Given the description of an element on the screen output the (x, y) to click on. 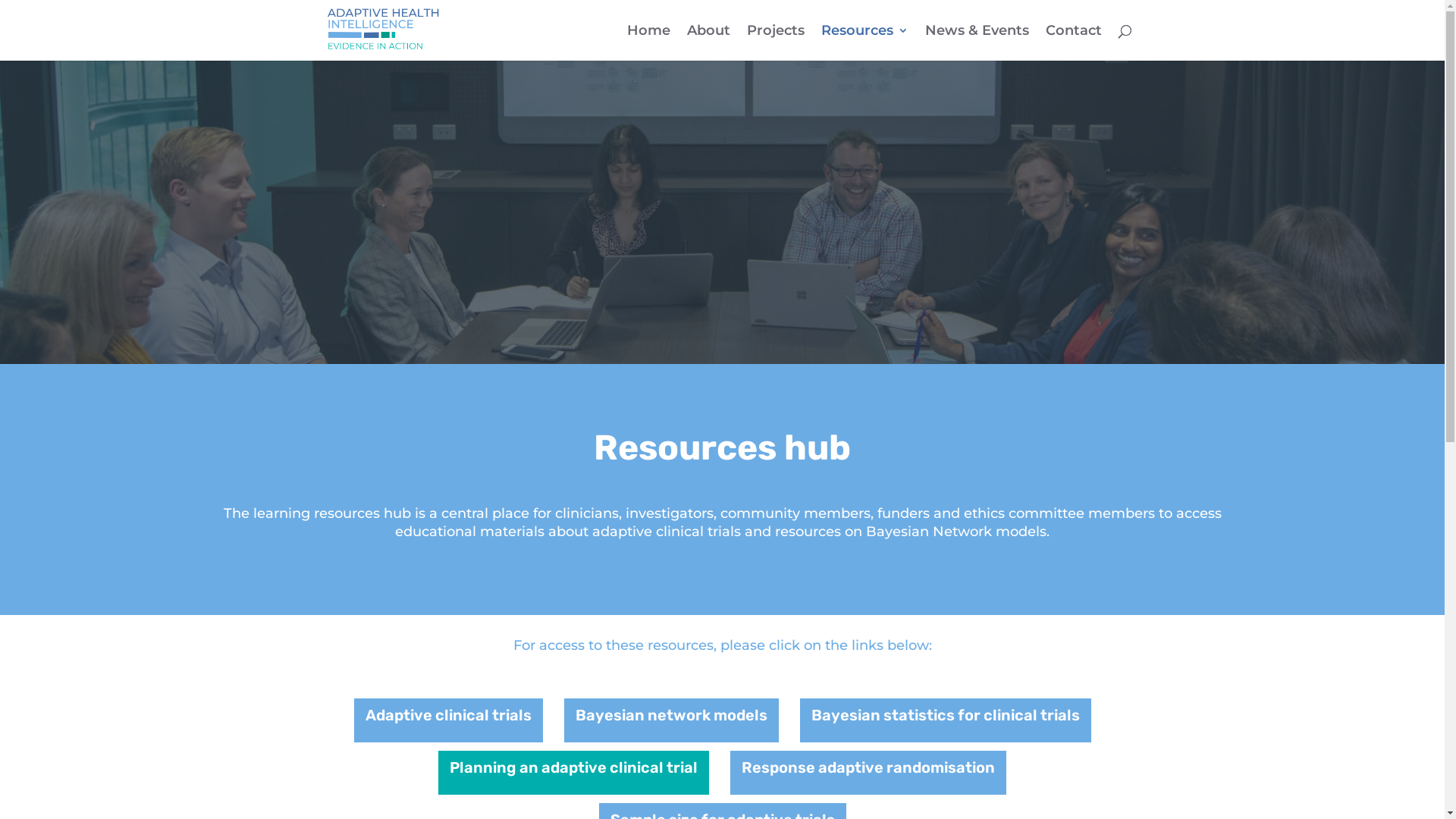
Bayesian statistics for clinical trials Element type: text (944, 720)
News & Events Element type: text (977, 42)
Planning an adaptive clinical trial Element type: text (573, 772)
About Element type: text (708, 42)
Home Element type: text (647, 42)
Bayesian network models Element type: text (671, 720)
Projects Element type: text (774, 42)
Resources Element type: text (863, 42)
Contact Element type: text (1072, 42)
Adaptive clinical trials Element type: text (447, 720)
Response adaptive randomisation Element type: text (868, 772)
